Given the description of an element on the screen output the (x, y) to click on. 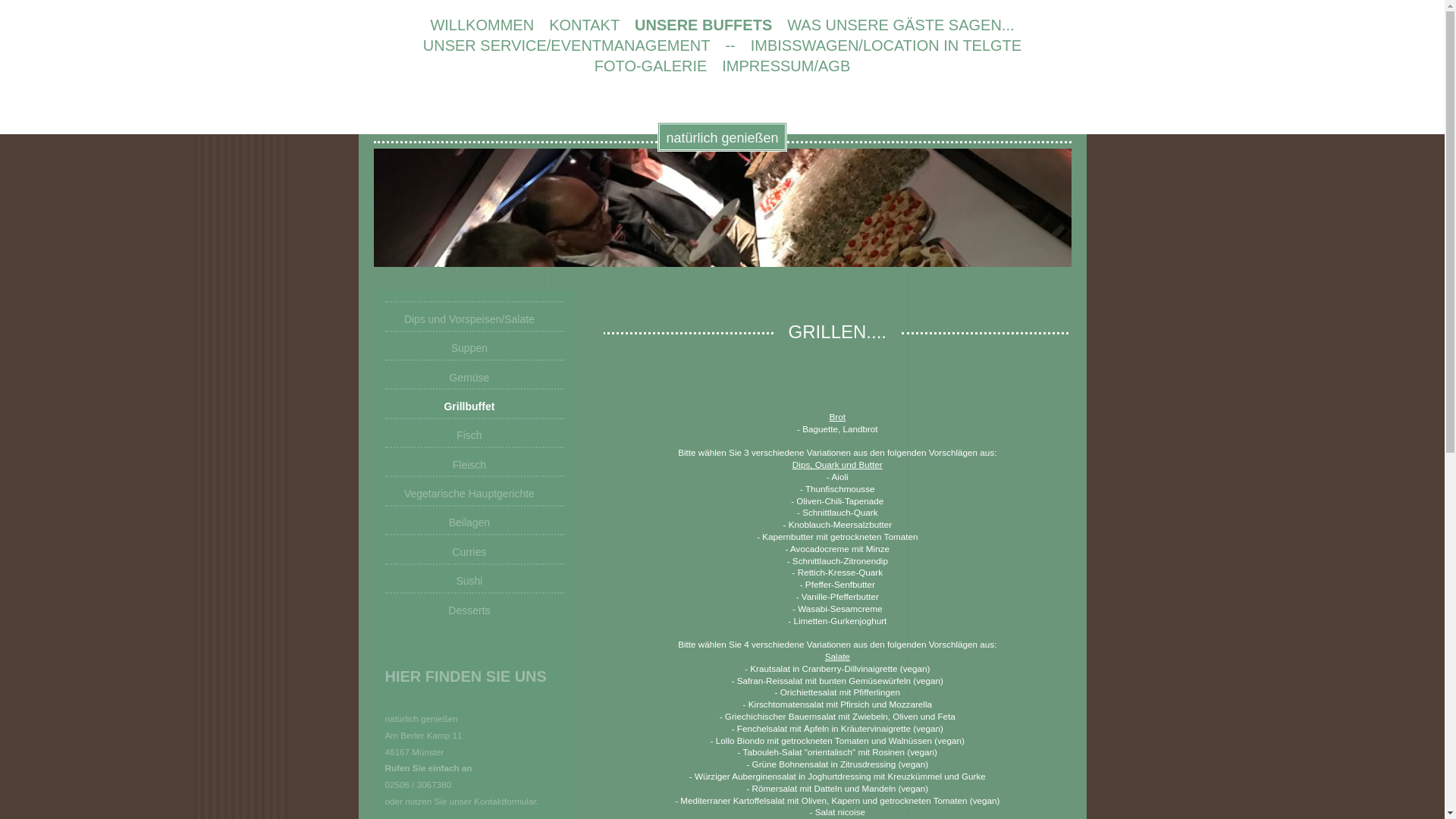
Vegetarische Hauptgerichte Element type: text (474, 493)
FOTO-GALERIE Element type: text (650, 66)
Beilagen Element type: text (474, 522)
WILLKOMMEN Element type: text (481, 25)
Grillbuffet Element type: text (474, 406)
Curries Element type: text (474, 551)
Fleisch Element type: text (474, 464)
IMPRESSUM/AGB Element type: text (785, 66)
Dips und Vorspeisen/Salate Element type: text (474, 318)
UNSER SERVICE/EVENTMANAGEMENT Element type: text (566, 45)
Sushi Element type: text (474, 581)
Suppen Element type: text (474, 348)
IMBISSWAGEN/LOCATION IN TELGTE Element type: text (886, 45)
Desserts Element type: text (474, 610)
KONTAKT Element type: text (584, 25)
UNSERE BUFFETS Element type: text (703, 25)
Fisch Element type: text (474, 435)
-- Element type: text (729, 45)
